Given the description of an element on the screen output the (x, y) to click on. 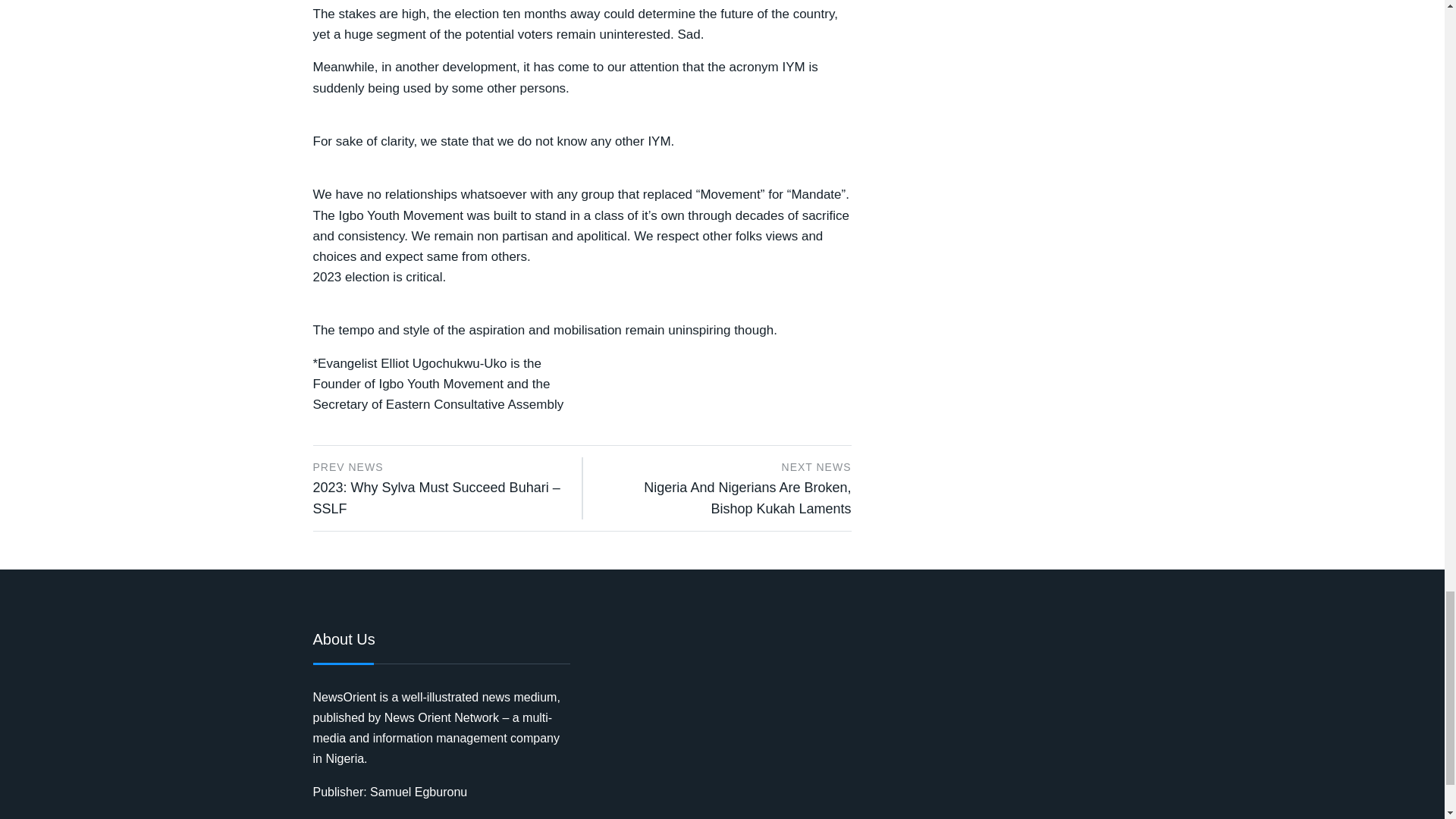
Nigeria And Nigerians Are Broken, Bishop Kukah Laments (746, 497)
